Given the description of an element on the screen output the (x, y) to click on. 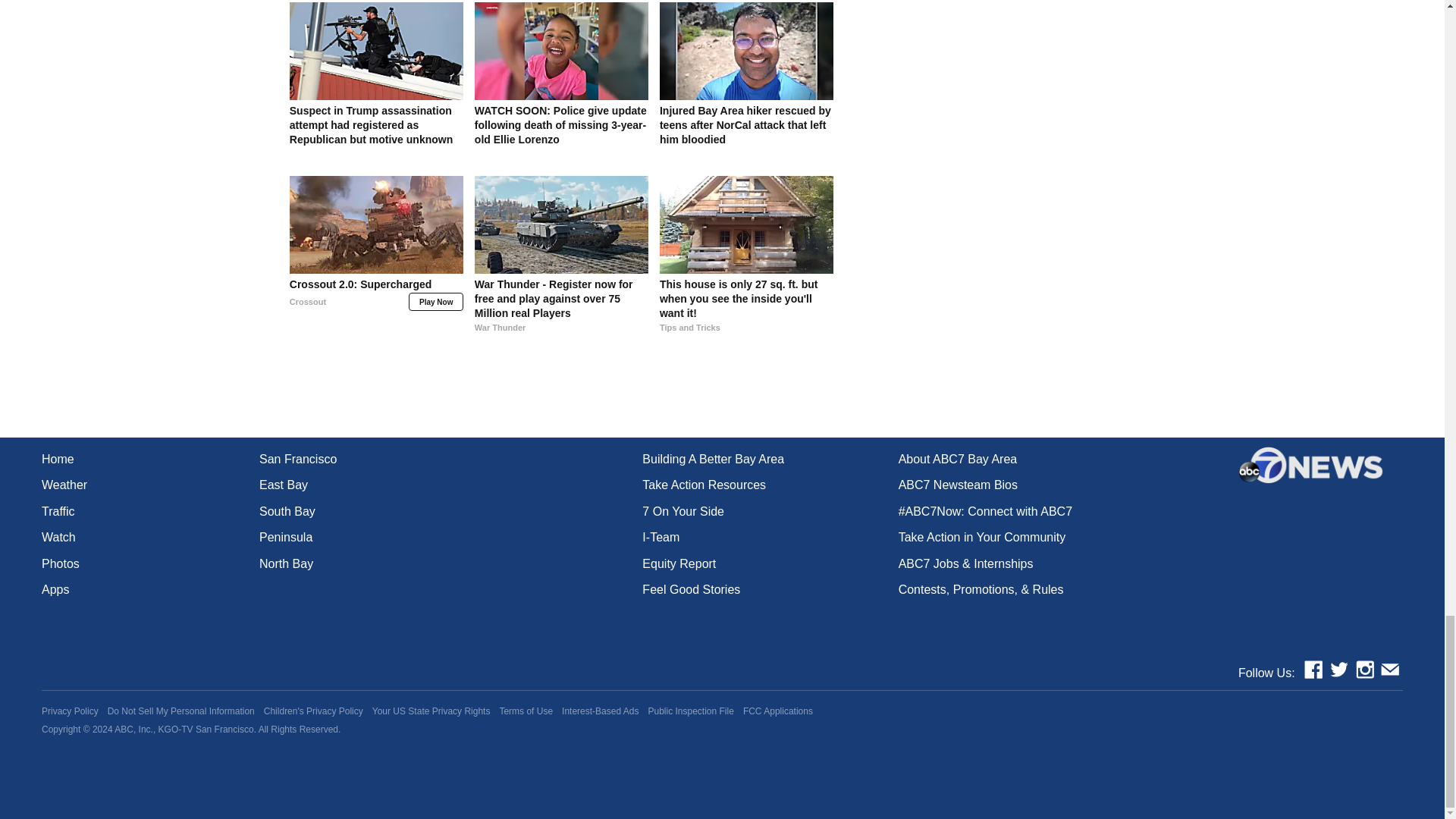
Crossout 2.0: Supercharged (376, 305)
